Given the description of an element on the screen output the (x, y) to click on. 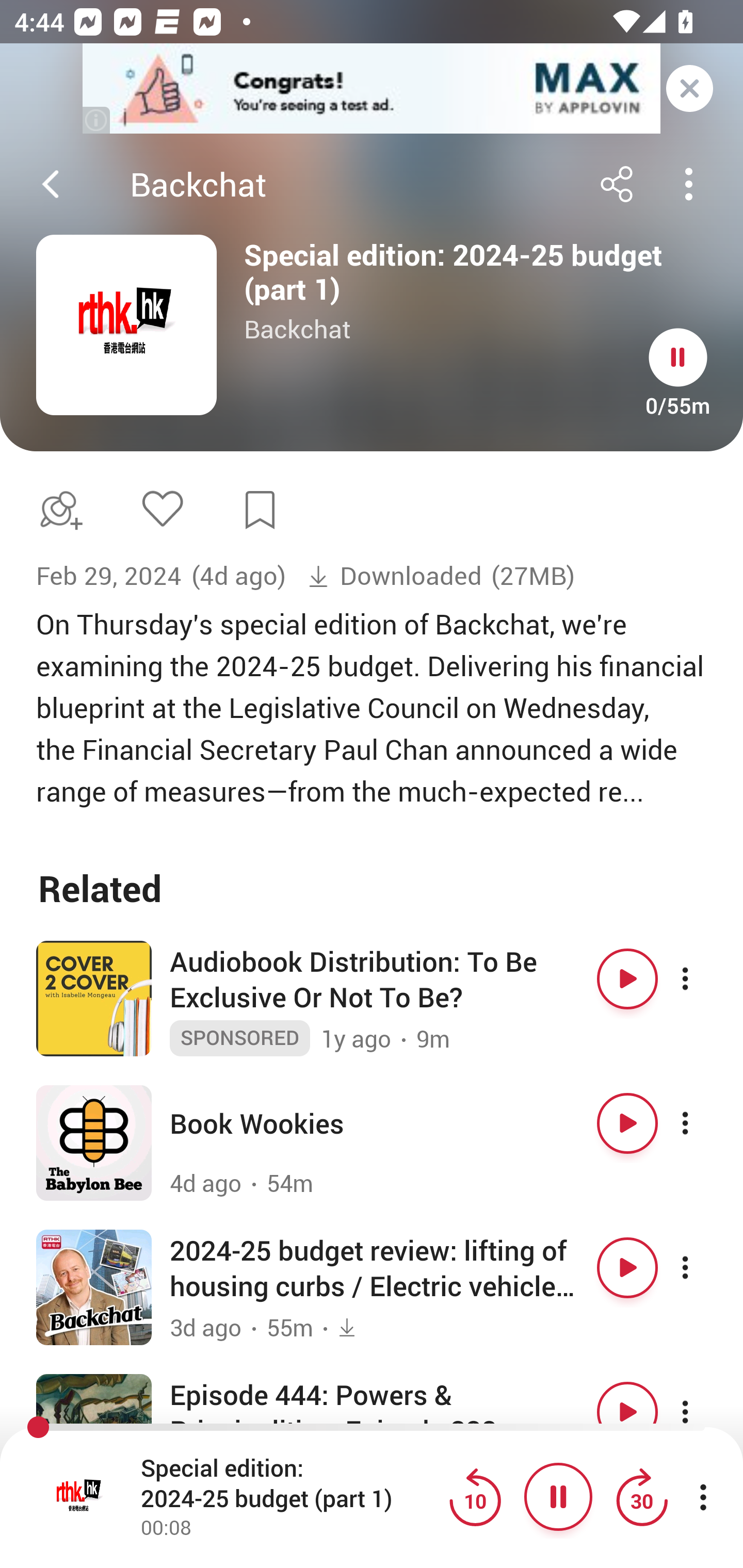
app-monetization (371, 88)
(i) (96, 119)
Back (50, 184)
Open series (126, 325)
Pause button (677, 357)
Like (161, 507)
Add episode to Play Later (57, 509)
New bookmark … (259, 510)
Downloaded (394, 576)
Play button (627, 979)
More options (703, 979)
Play button (627, 1123)
More options (703, 1123)
Play button (627, 1267)
More options (703, 1267)
Play button (627, 1410)
More options (703, 1410)
Open fullscreen player (79, 1497)
More player controls (703, 1497)
Special edition: 2024-25 budget (part 1) (290, 1484)
Pause button (558, 1496)
Jump back (475, 1497)
Jump forward (641, 1497)
